Given the description of an element on the screen output the (x, y) to click on. 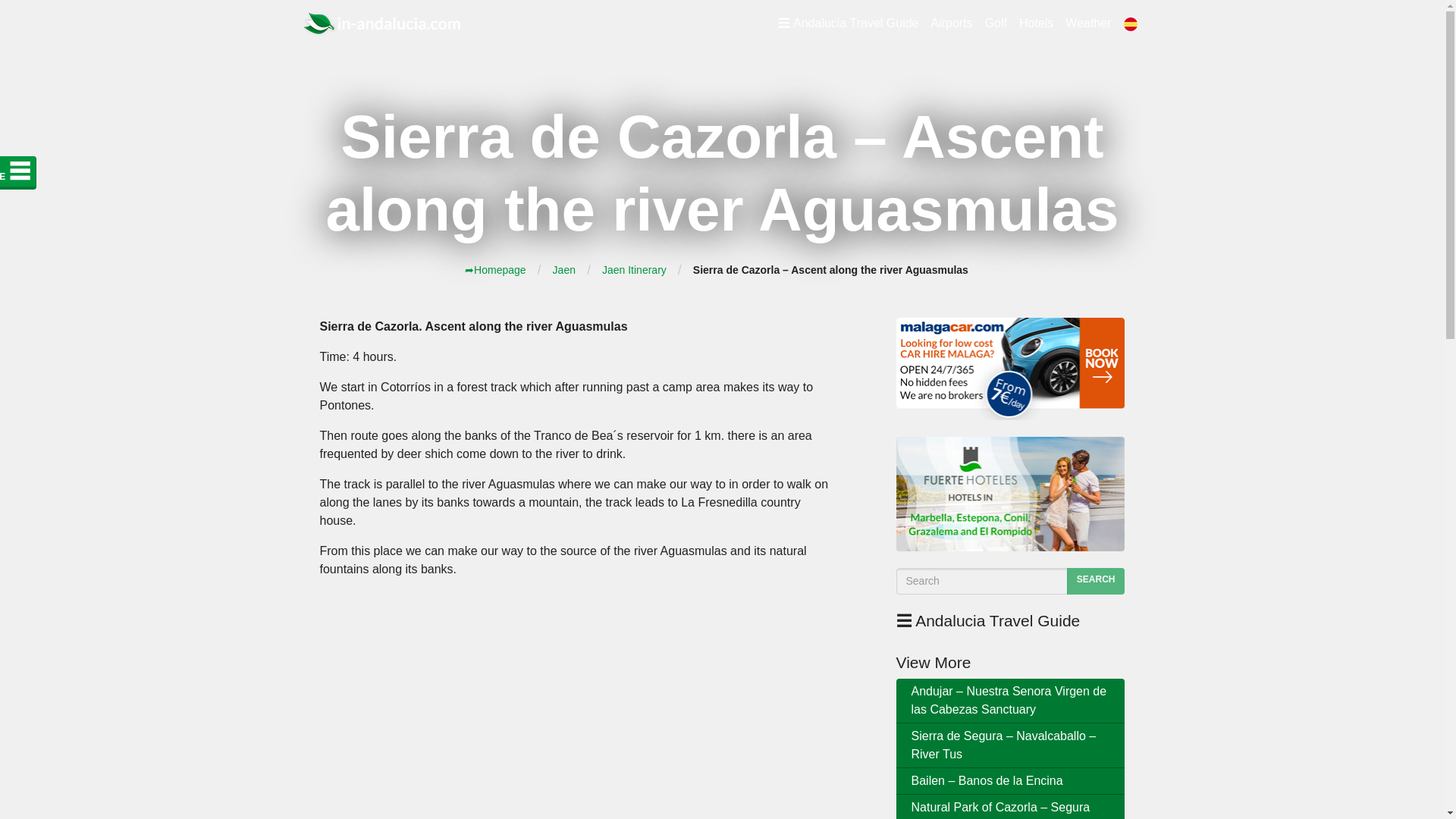
Jaen Itinerary (634, 269)
Jaen (564, 269)
Homepage (494, 269)
